Given the description of an element on the screen output the (x, y) to click on. 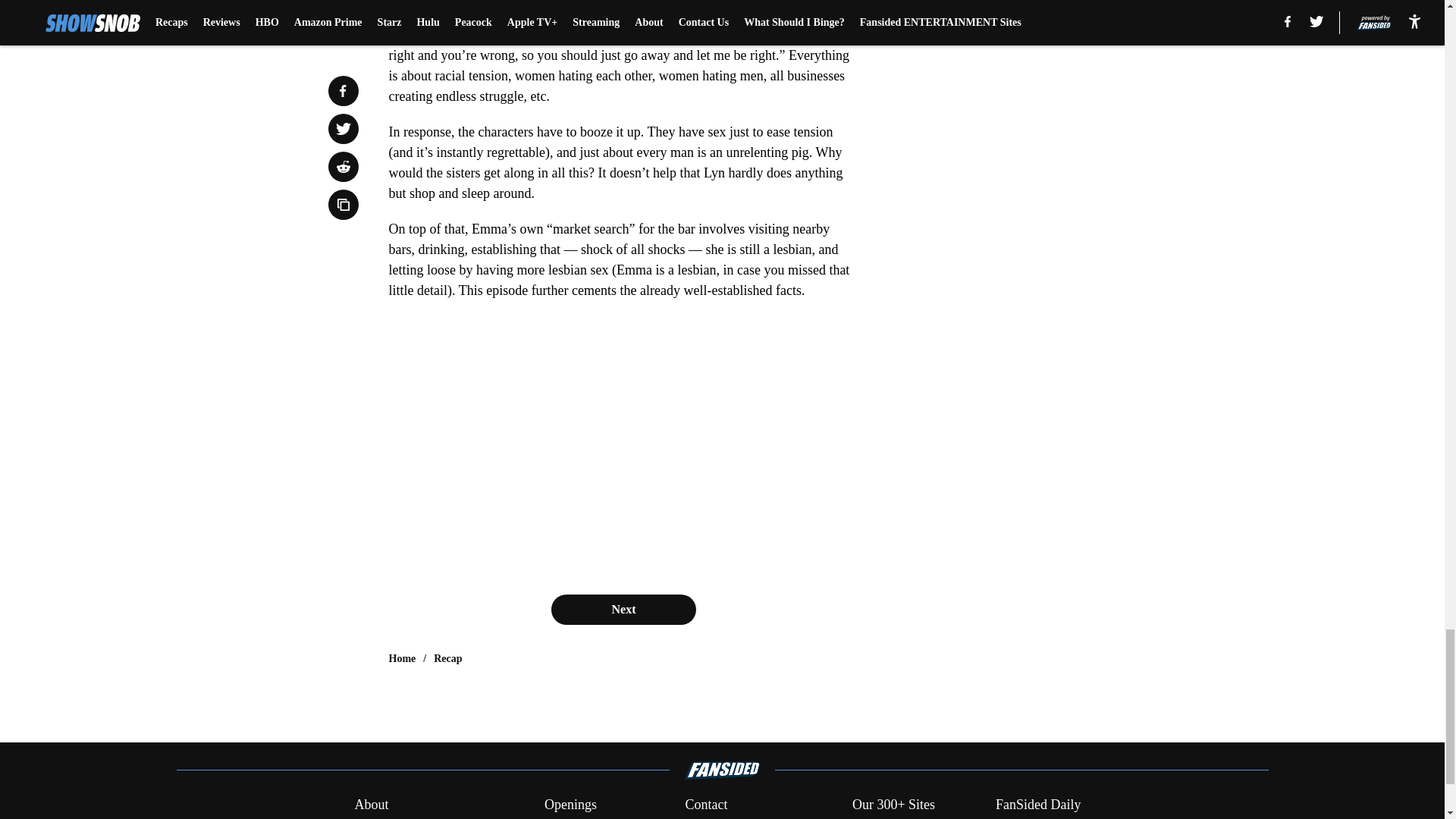
Home (401, 658)
Recap (447, 658)
Next (622, 609)
